Given the description of an element on the screen output the (x, y) to click on. 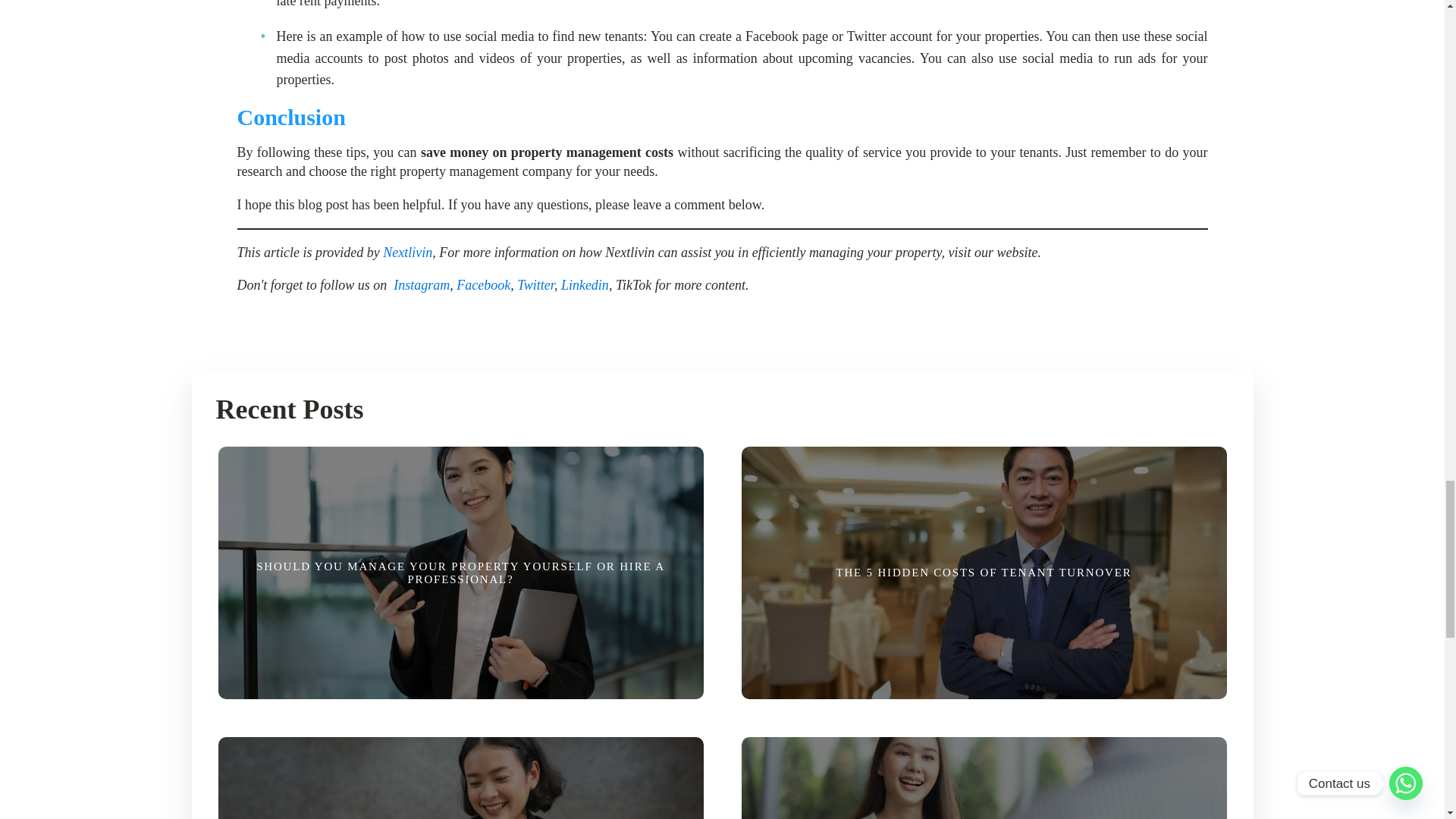
Nextlivin (407, 252)
7 STEPS IN NEGOTIATING WITH VENDORS IN PROPERTY MANAGEMENT (983, 772)
Twitter (535, 284)
Facebook (484, 284)
Linkedin (584, 284)
Instagram (421, 284)
